Given the description of an element on the screen output the (x, y) to click on. 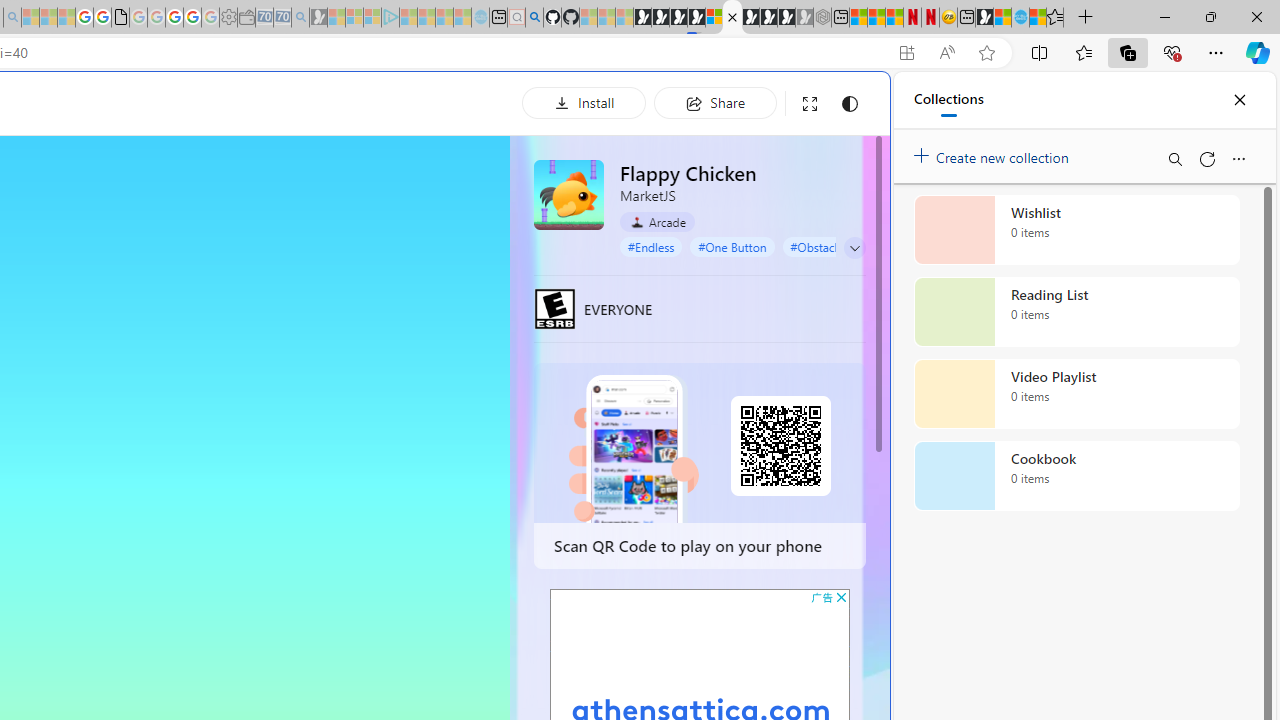
Flappy Chicken (568, 194)
AutomationID: cbb (841, 596)
Class: expand-arrow neutral (854, 247)
EVERYONE (554, 308)
Close split screen (844, 102)
